Given the description of an element on the screen output the (x, y) to click on. 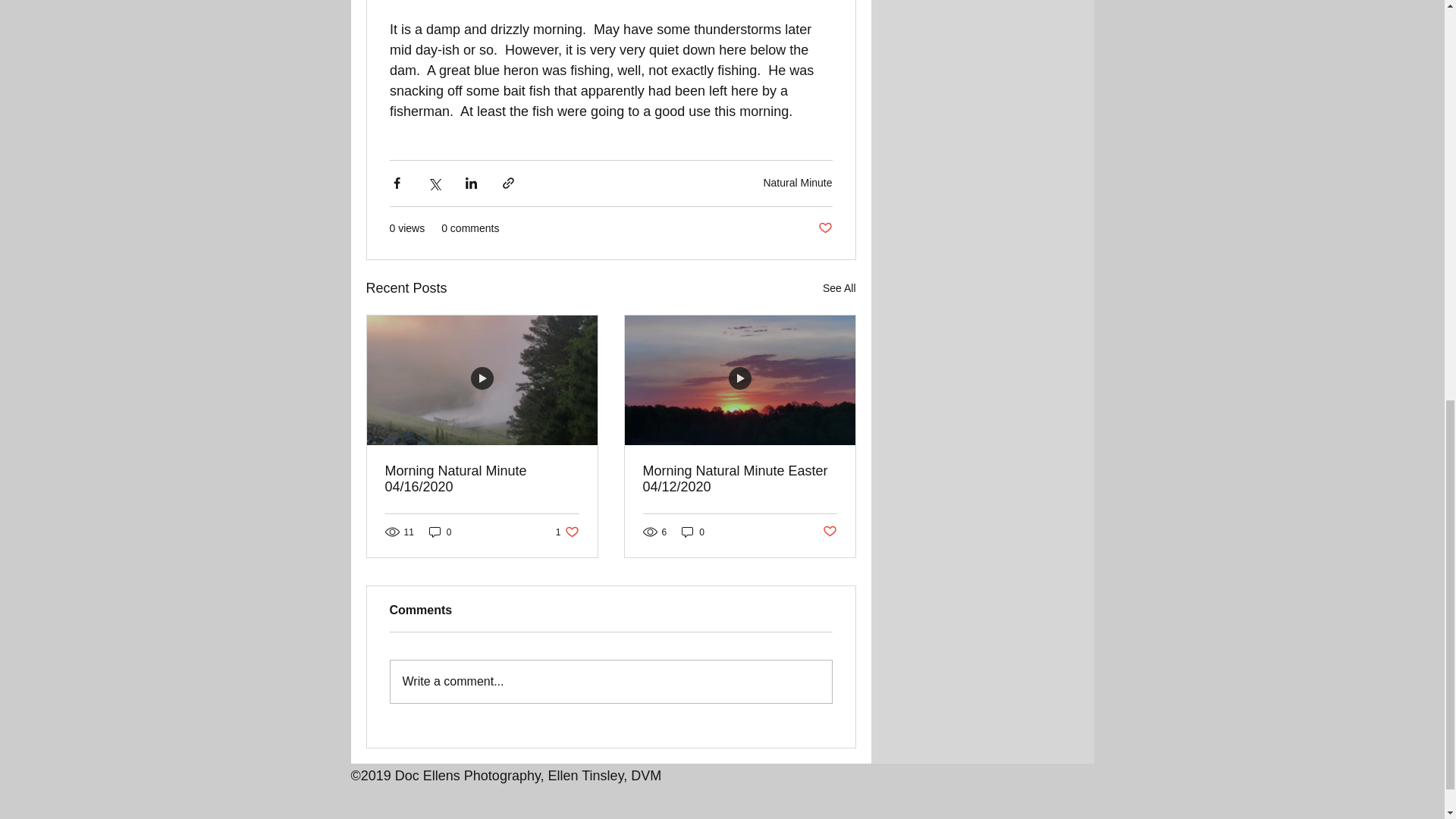
0 (692, 531)
0 (440, 531)
See All (839, 288)
Natural Minute (567, 531)
Post not marked as liked (796, 182)
Post not marked as liked (828, 531)
Write a comment... (823, 227)
